Given the description of an element on the screen output the (x, y) to click on. 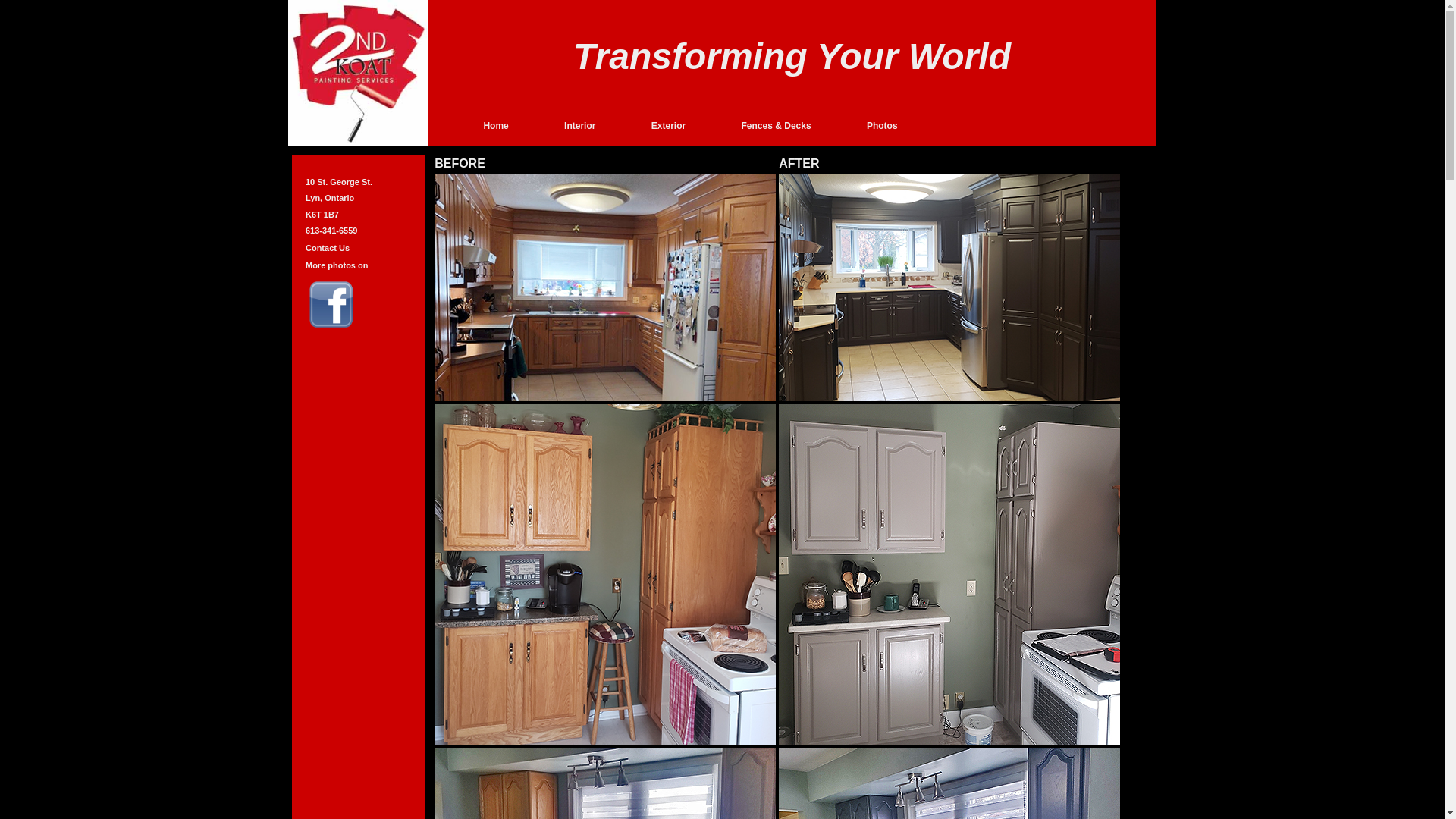
Exterior Element type: text (668, 125)
Home Element type: text (495, 125)
Fences & Decks  Element type: text (777, 125)
Photos Element type: text (881, 125)
Interior Element type: text (579, 125)
Contact Us Element type: text (327, 247)
